Given the description of an element on the screen output the (x, y) to click on. 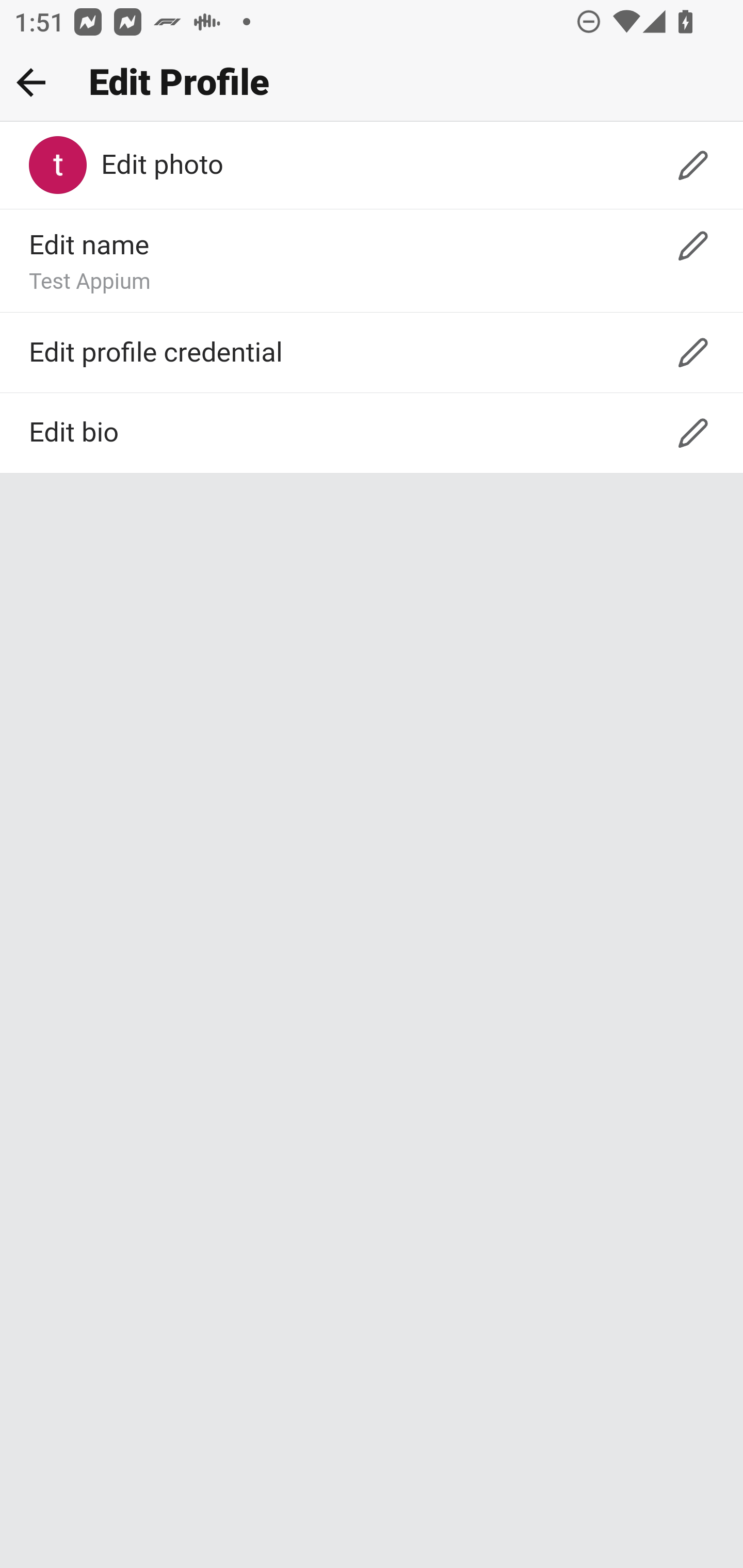
Back (30, 82)
Profile photo for Test Appium Edit photo (371, 166)
Edit name Test Appium (371, 261)
Edit profile credential (371, 351)
Edit bio (371, 432)
